Given the description of an element on the screen output the (x, y) to click on. 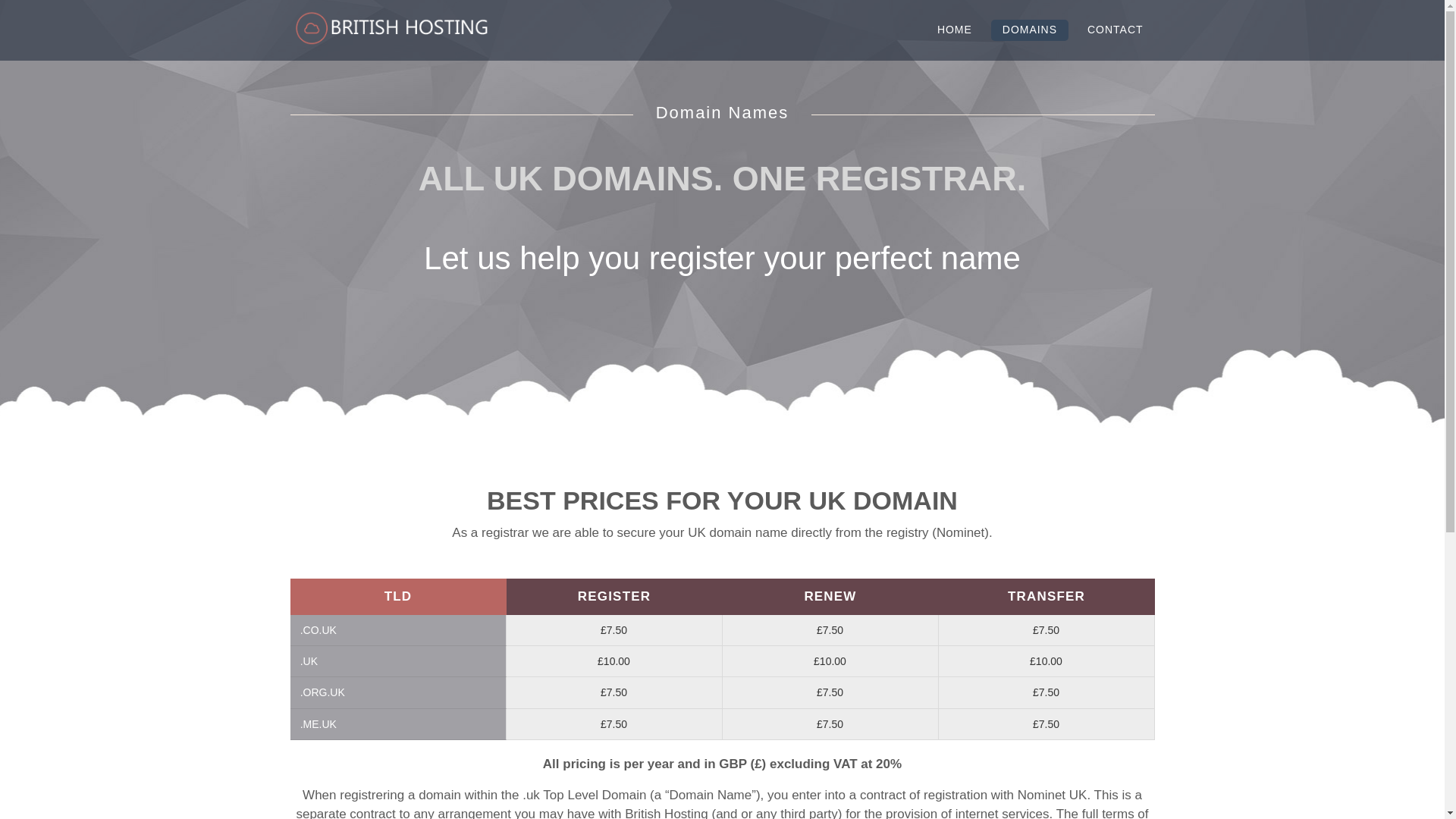
HOME (955, 29)
British Hosting (389, 28)
DOMAINS (1029, 29)
CONTACT (1114, 29)
